Given the description of an element on the screen output the (x, y) to click on. 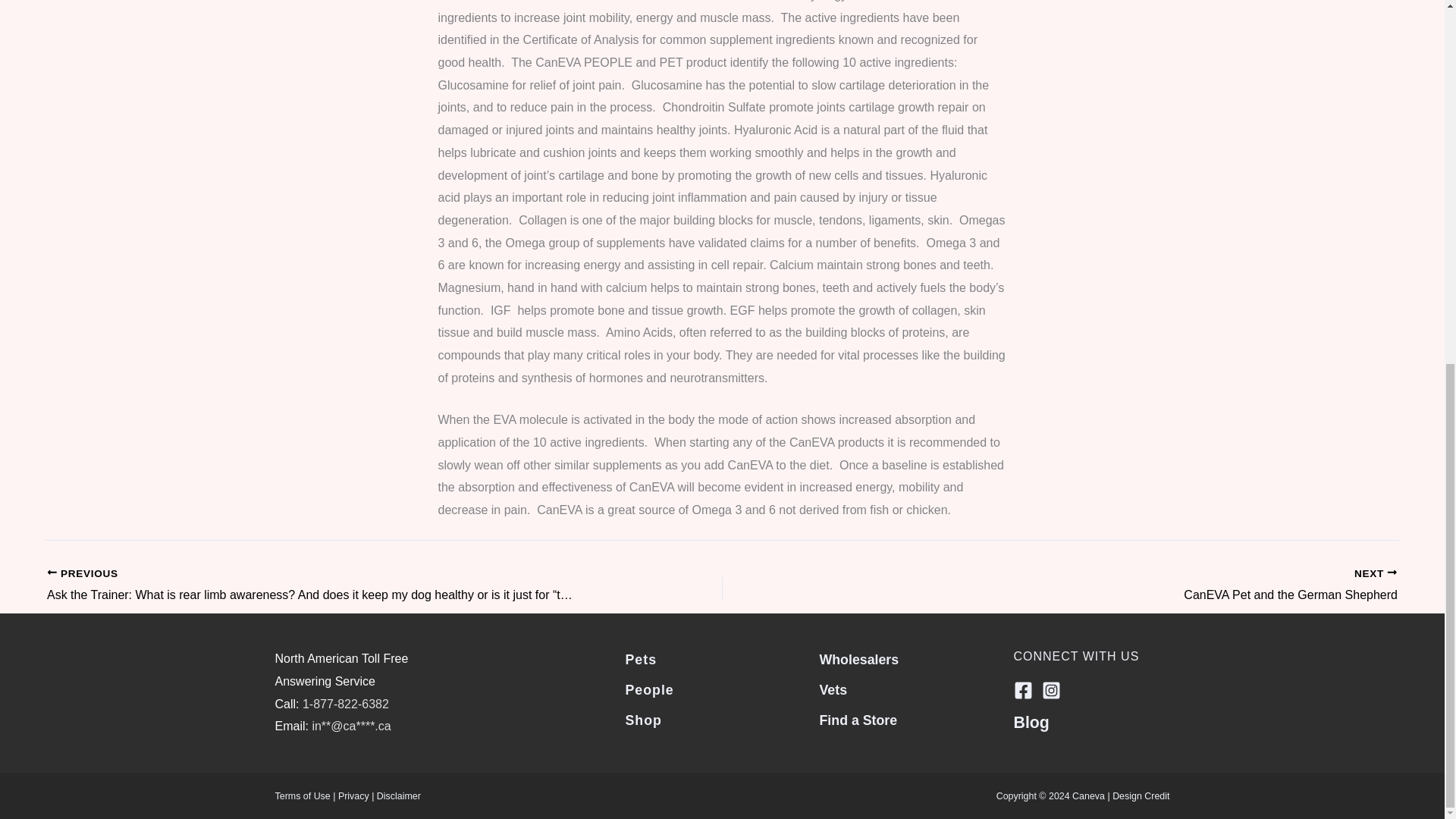
Find a Store (857, 720)
Vets (832, 689)
Shop (642, 720)
Terms of Use (1126, 586)
People (302, 796)
Disclaimer (648, 689)
Pets (398, 796)
Privacy (640, 659)
